Given the description of an element on the screen output the (x, y) to click on. 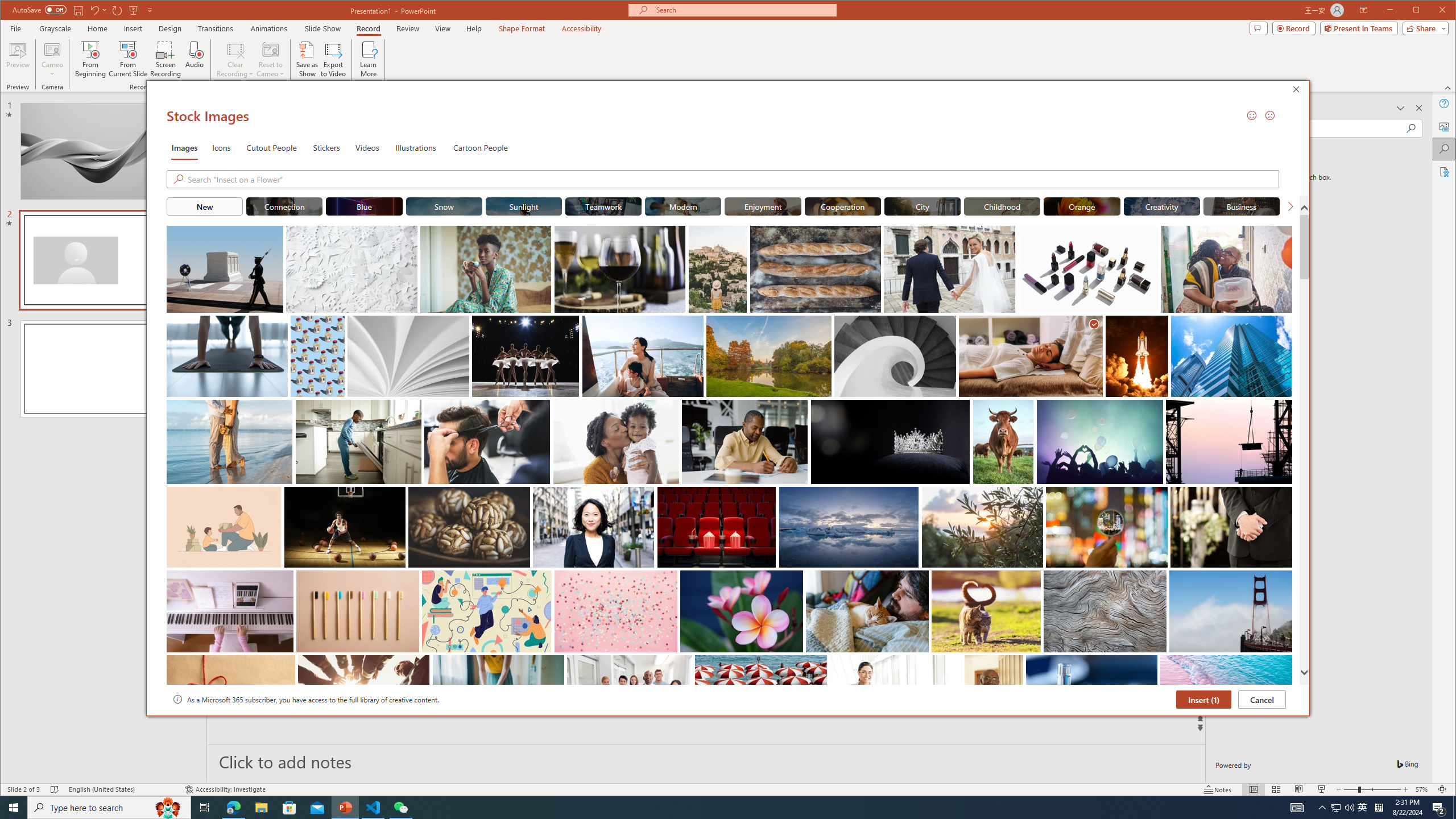
Illustrations (415, 147)
"Connection" Stock Images. (283, 206)
